Given the description of an element on the screen output the (x, y) to click on. 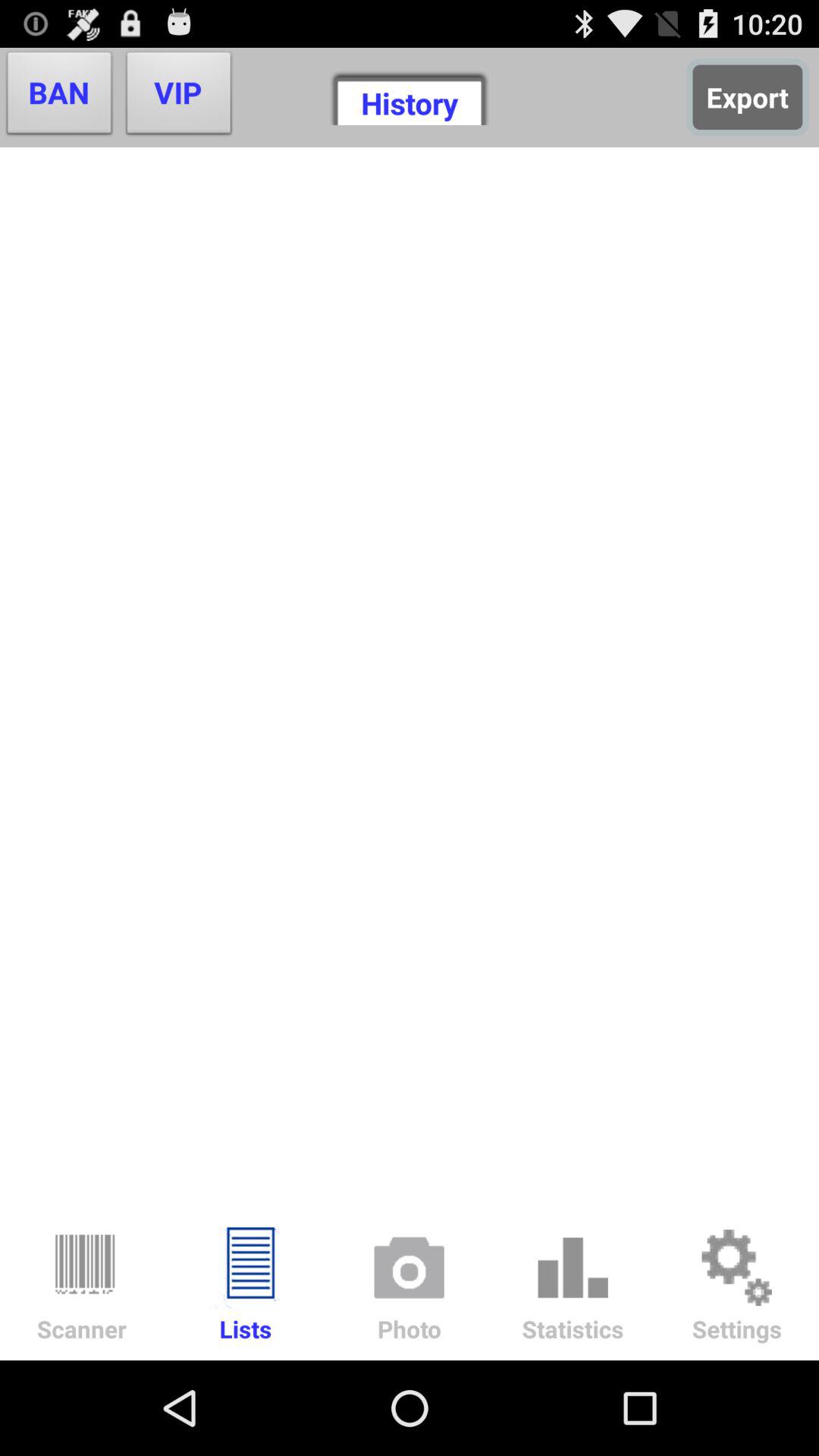
press icon next to history (747, 96)
